Given the description of an element on the screen output the (x, y) to click on. 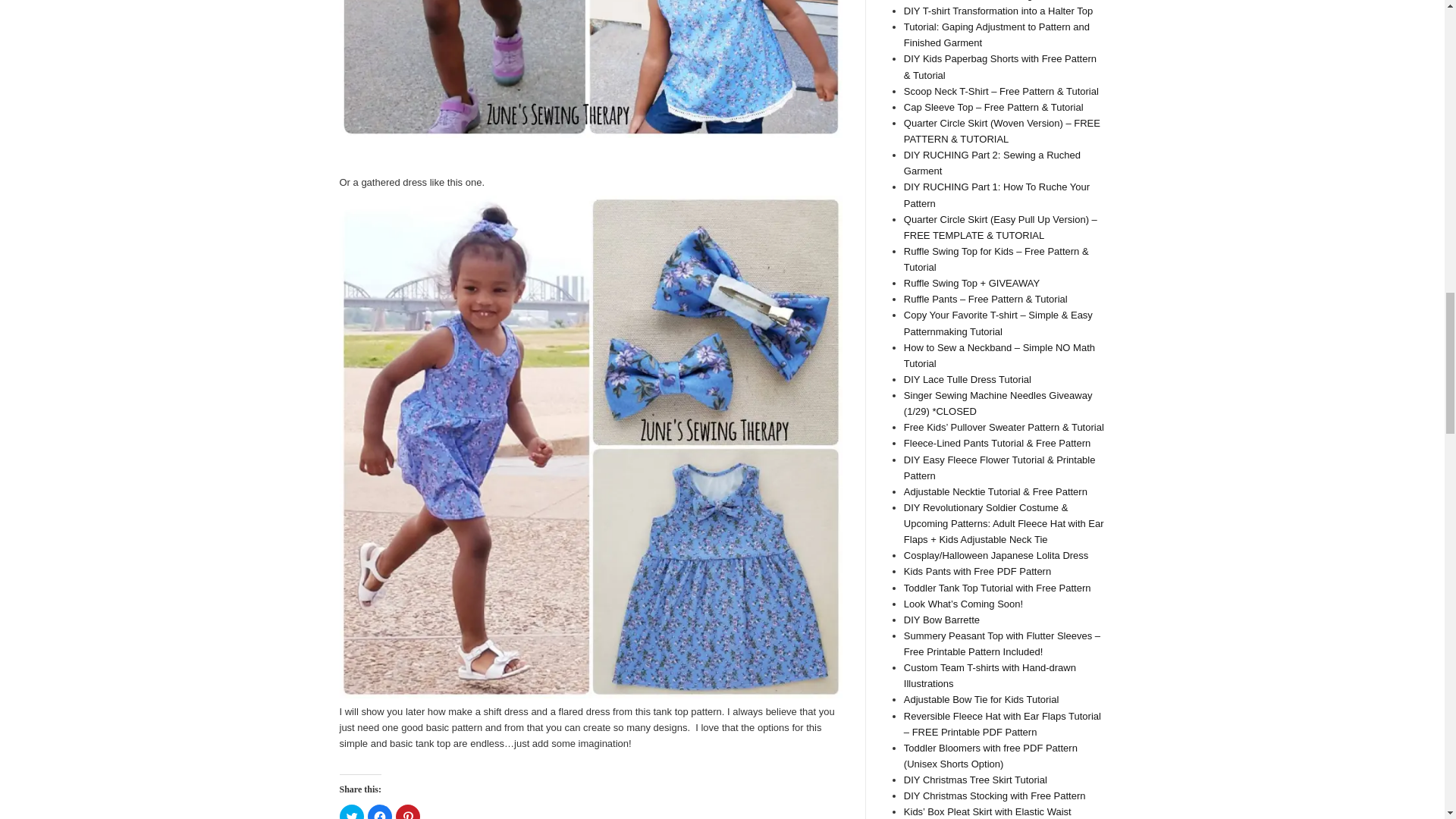
Click to share on Facebook (378, 811)
Click to share on Pinterest (408, 811)
Click to share on Twitter (351, 811)
